Given the description of an element on the screen output the (x, y) to click on. 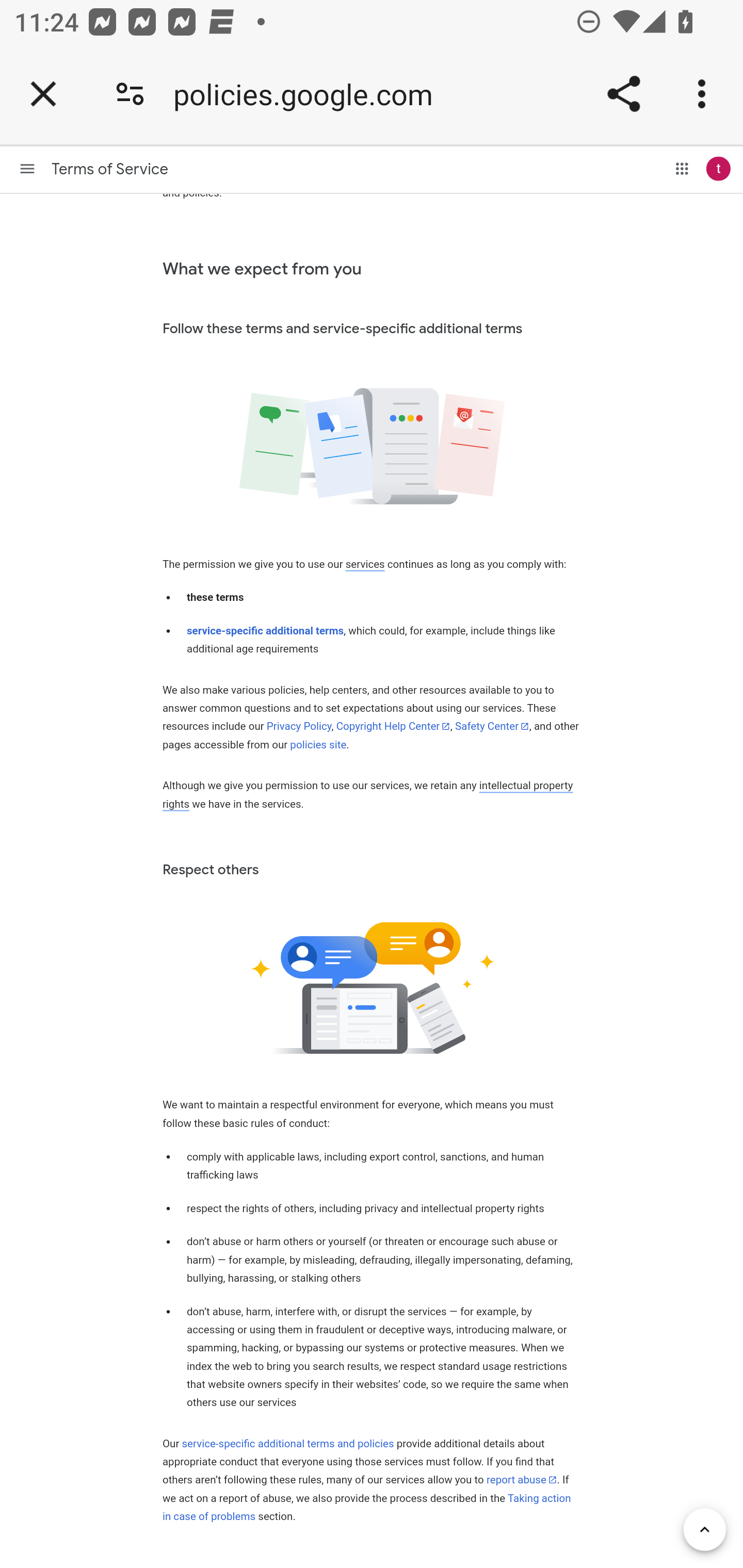
Close tab (43, 93)
Share (623, 93)
Customize and control Google Chrome (705, 93)
Connection is secure (129, 93)
policies.google.com (310, 93)
